Given the description of an element on the screen output the (x, y) to click on. 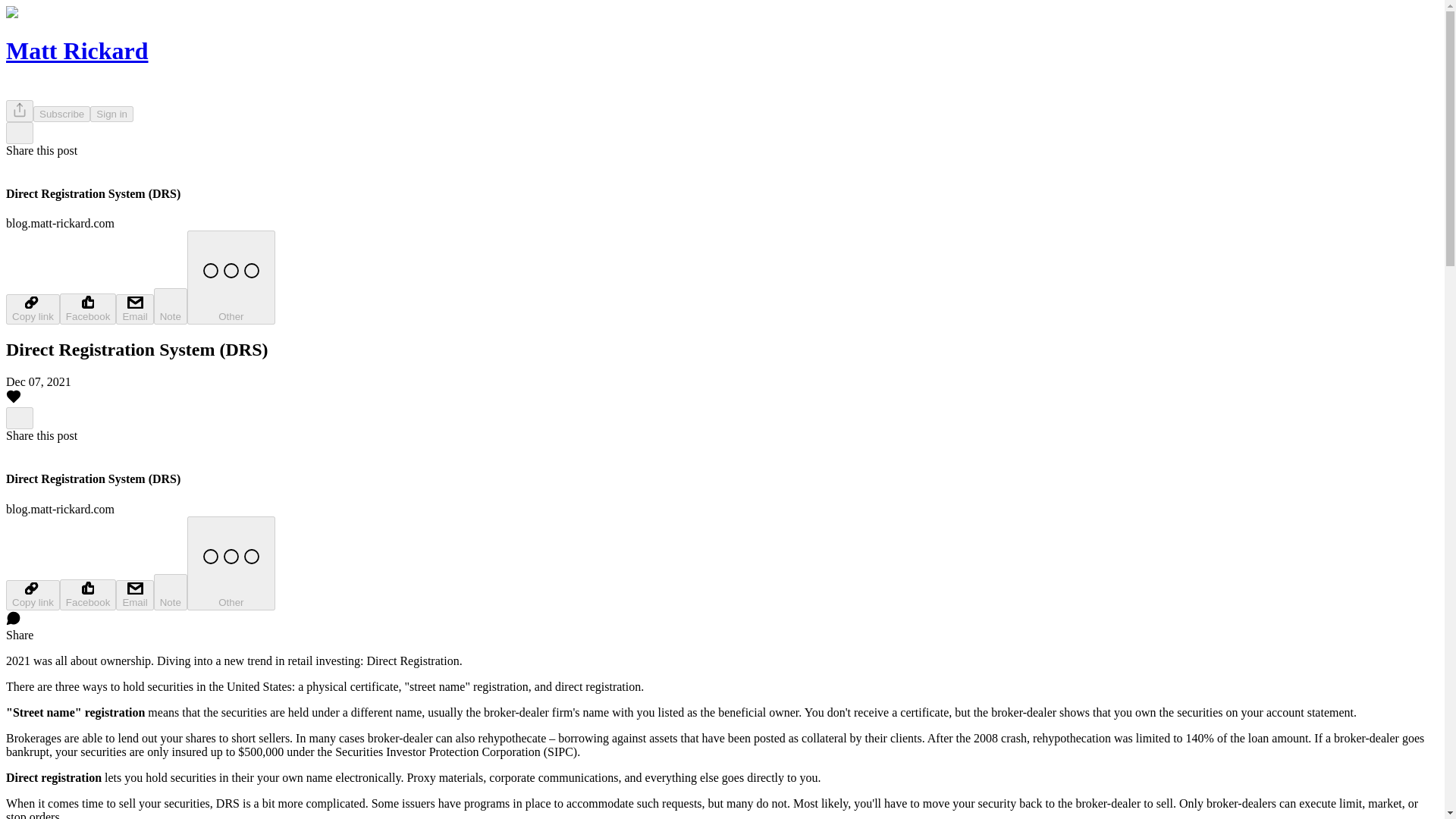
Email (134, 594)
Copy link (32, 309)
Subscribe (61, 114)
Facebook (87, 594)
Note (170, 306)
Note (170, 592)
Copy link (32, 594)
Email (134, 309)
Sign in (111, 114)
Matt Rickard (76, 50)
Facebook (87, 308)
Other (231, 277)
Other (231, 563)
